Given the description of an element on the screen output the (x, y) to click on. 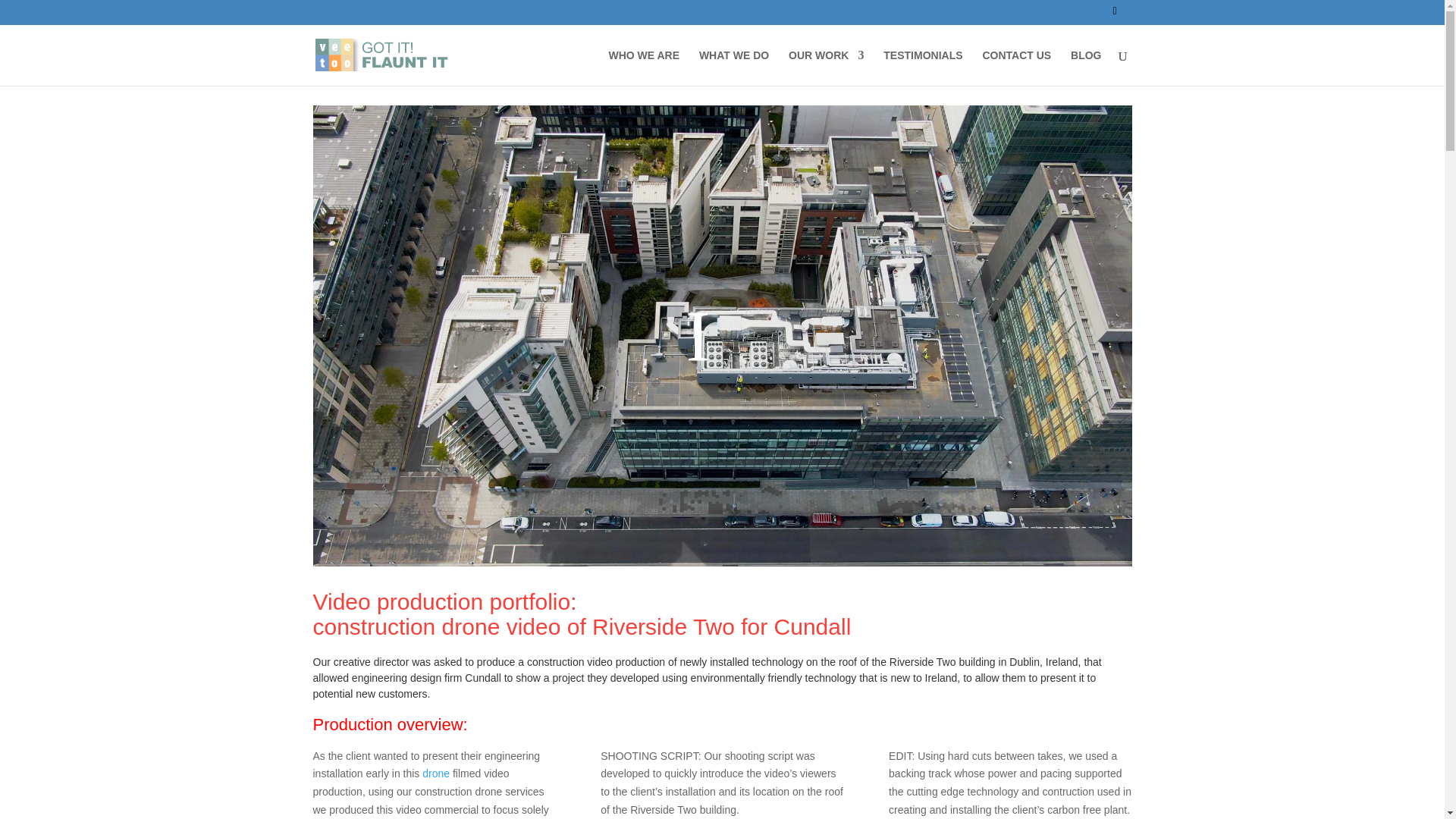
Riverside Two (922, 662)
environmentally friendly (746, 677)
Video production portfolio (441, 601)
OUR WORK (826, 67)
WHAT WE DO (733, 67)
Cundall (482, 677)
Dublin (1024, 662)
TESTIMONIALS (922, 67)
CONTACT US (1016, 67)
drone (435, 773)
WHO WE ARE (643, 67)
